Given the description of an element on the screen output the (x, y) to click on. 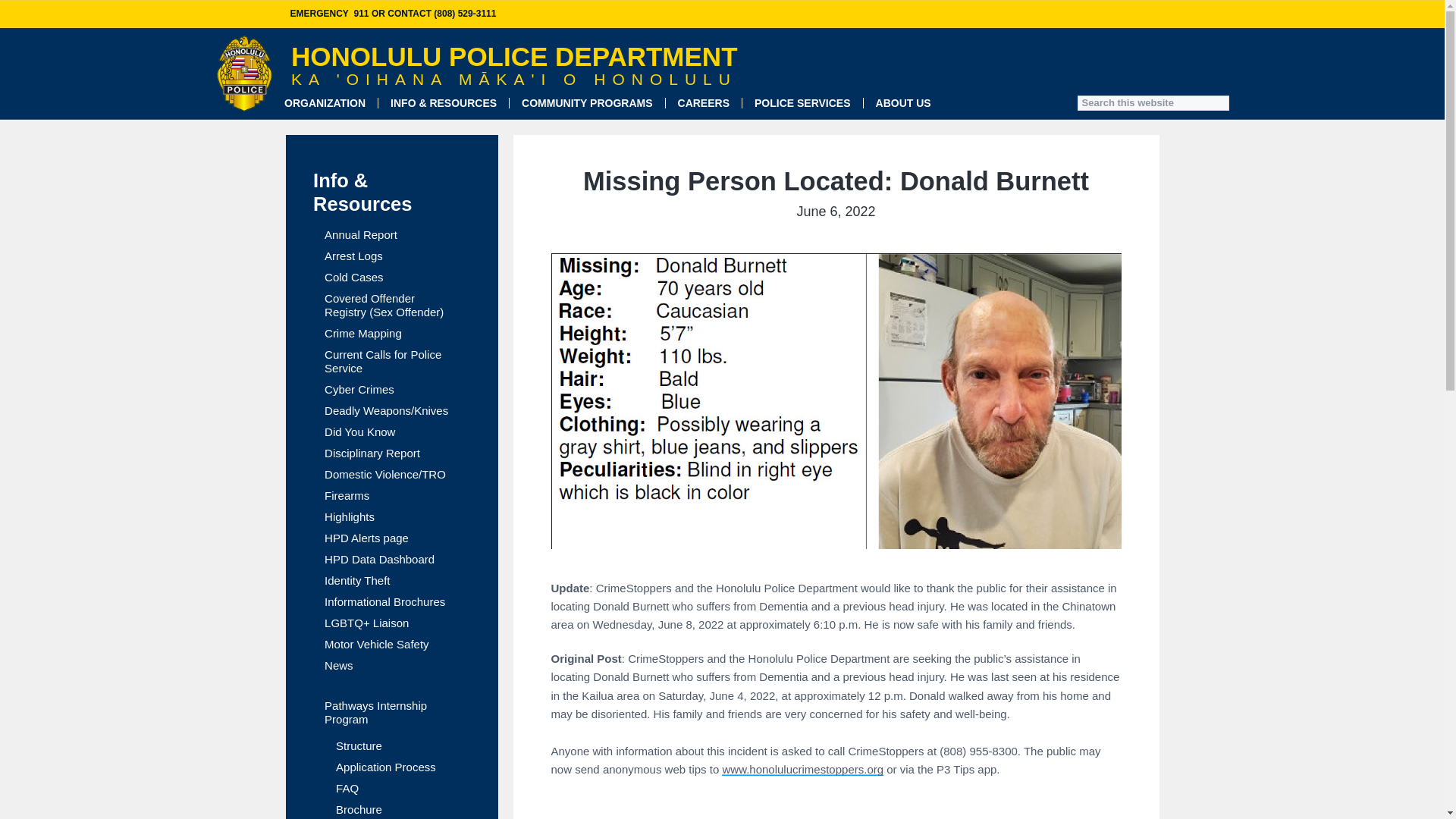
Identity Theft (357, 581)
Informational Brochures (384, 602)
COMMUNITY PROGRAMS (586, 103)
Annual Report (360, 234)
Firearms (346, 495)
Did You Know (359, 431)
POLICE SERVICES (802, 103)
Current Calls for Police Service (391, 361)
HPD Alerts page (366, 538)
